Given the description of an element on the screen output the (x, y) to click on. 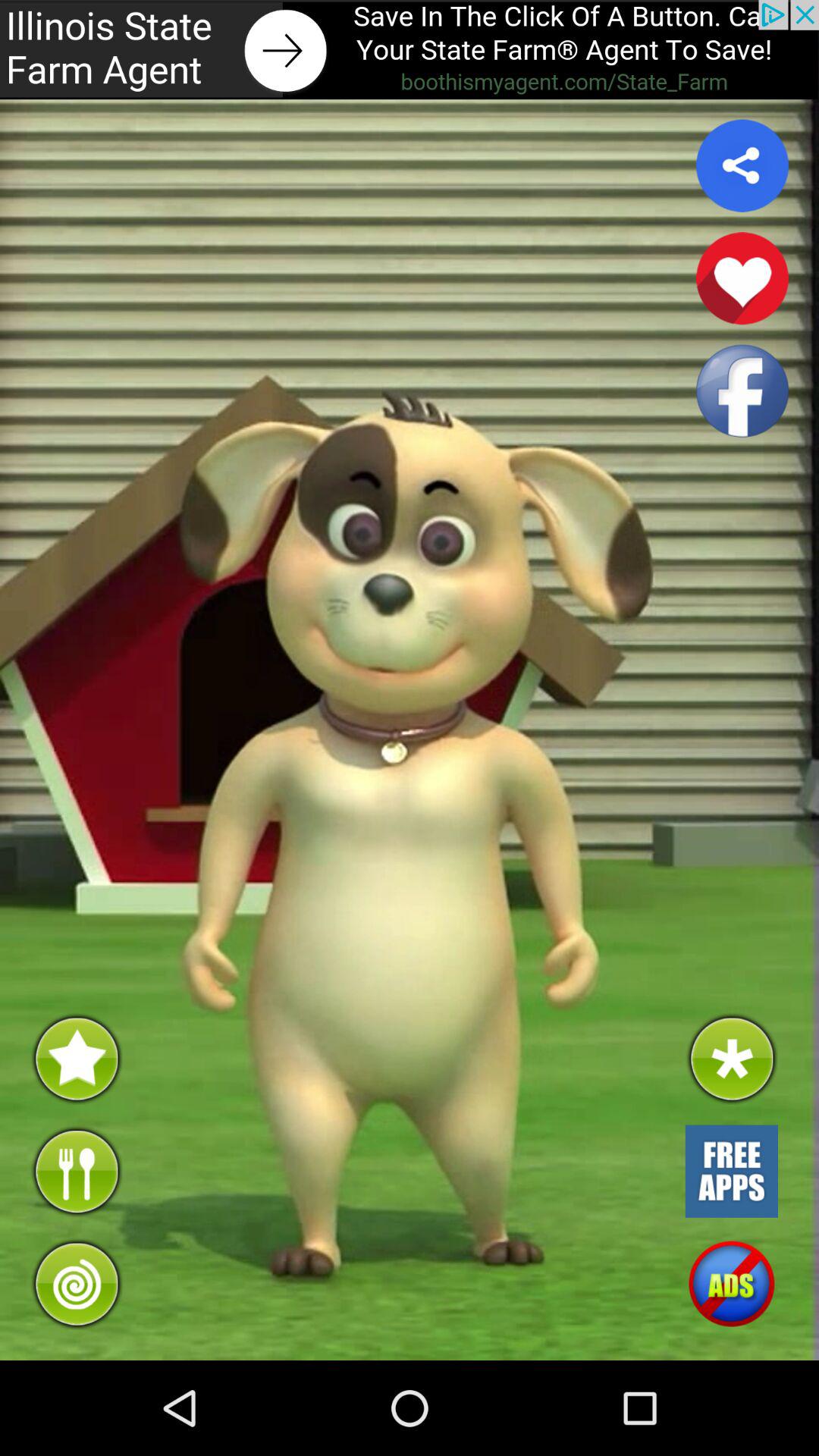
share button (742, 165)
